Given the description of an element on the screen output the (x, y) to click on. 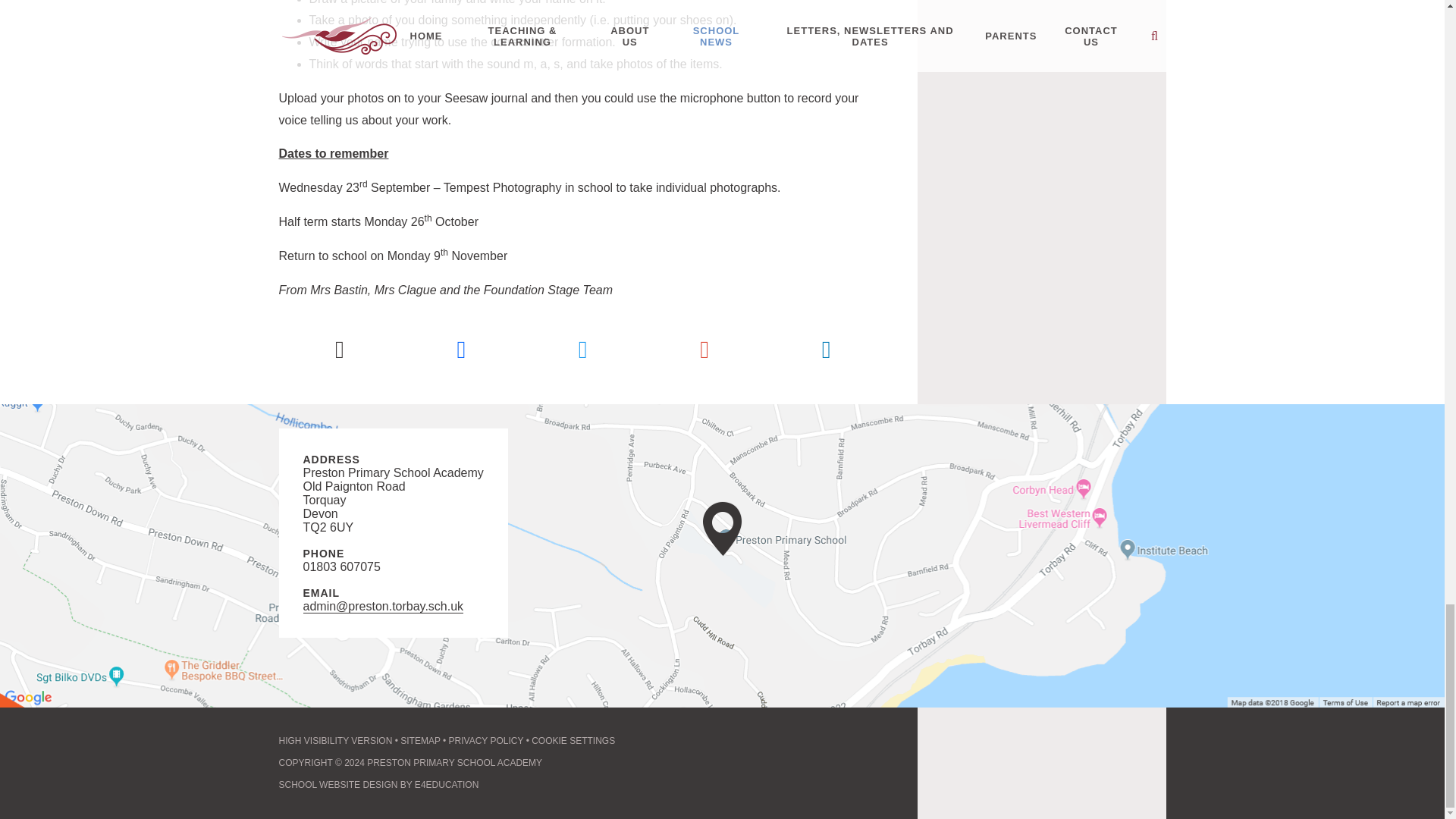
e4education (379, 784)
Cookie Settings (572, 740)
